Given the description of an element on the screen output the (x, y) to click on. 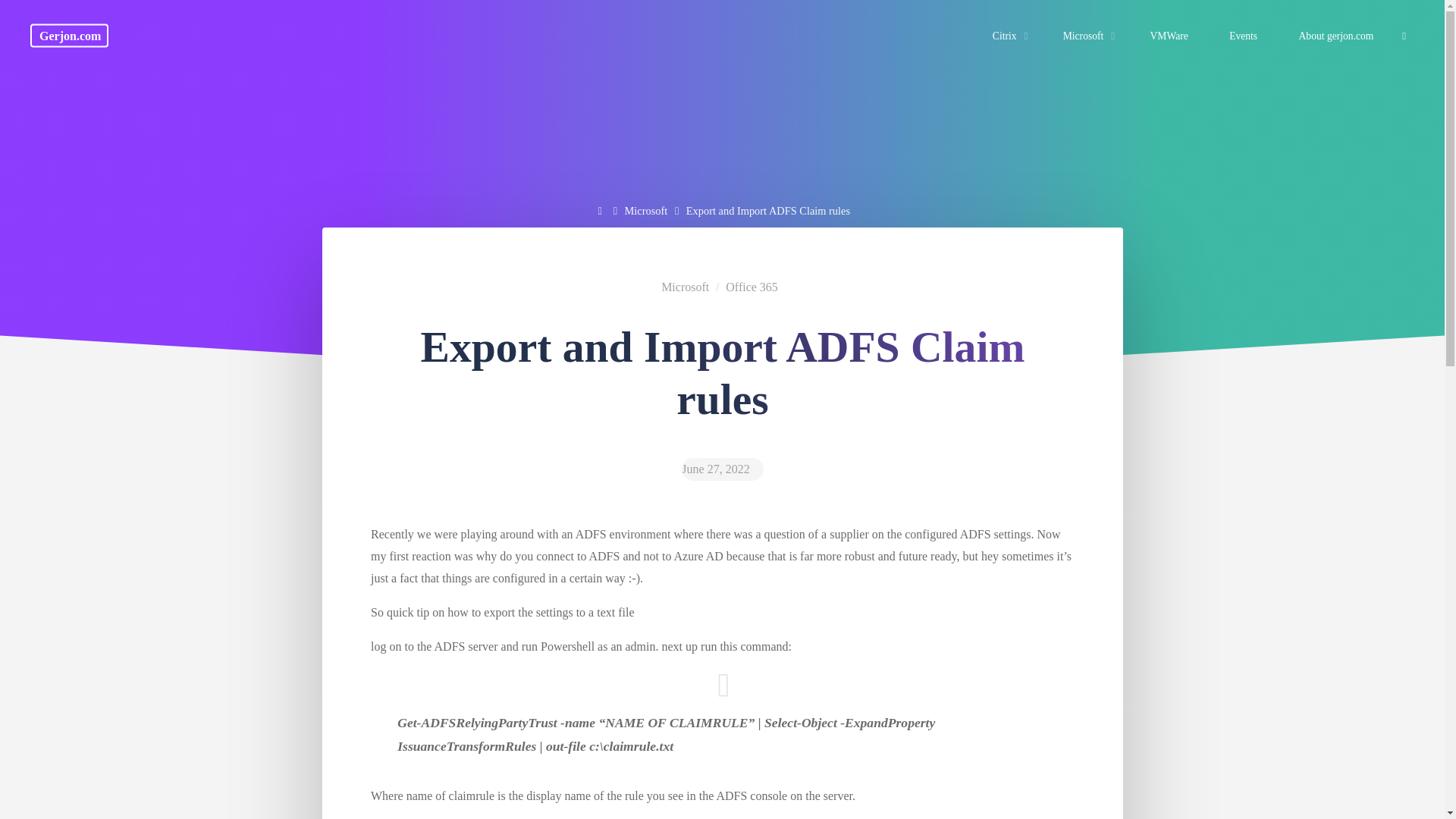
Microsoft (1085, 35)
Home (601, 210)
Home (601, 210)
About gerjon.com (1335, 35)
Events (1243, 35)
Microsoft (646, 210)
Just another IT nerd blog (68, 34)
Gerjon.com (68, 34)
VMWare (1168, 35)
Citrix (1007, 35)
